Given the description of an element on the screen output the (x, y) to click on. 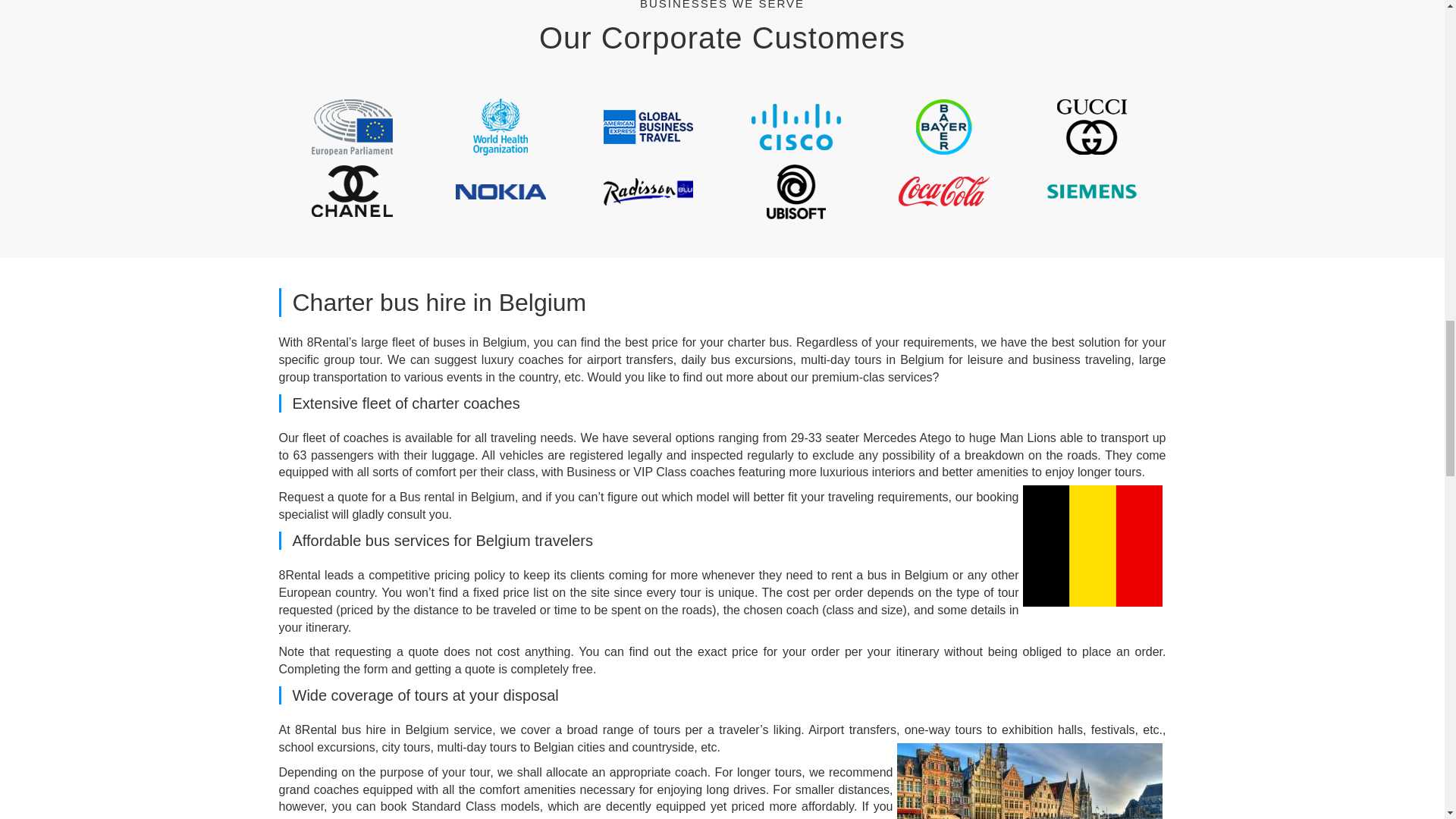
car service in Belgium photo 2 (1028, 780)
